Given the description of an element on the screen output the (x, y) to click on. 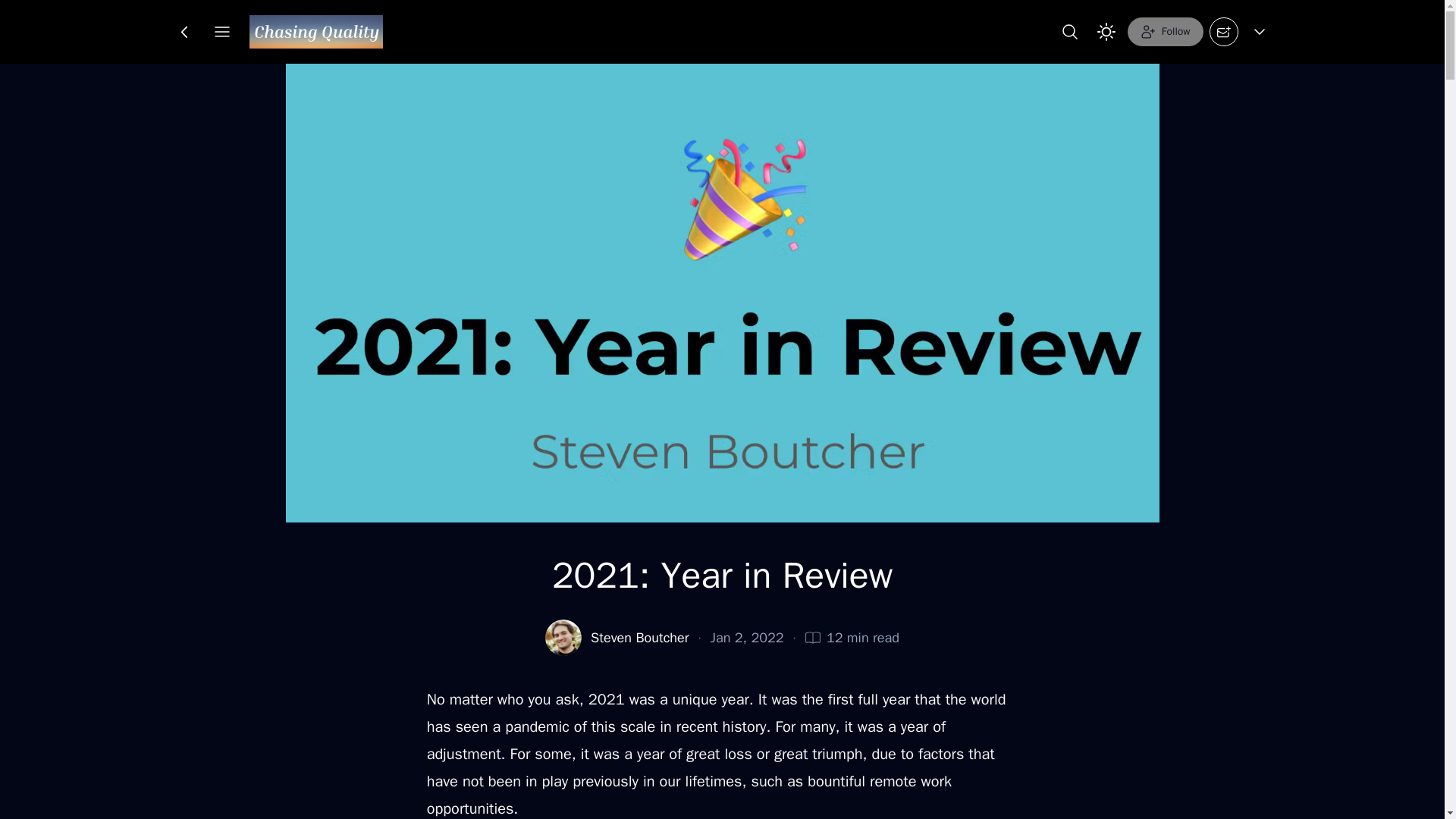
Jan 2, 2022 (747, 637)
Follow (1165, 31)
Steven Boutcher (639, 637)
